Given the description of an element on the screen output the (x, y) to click on. 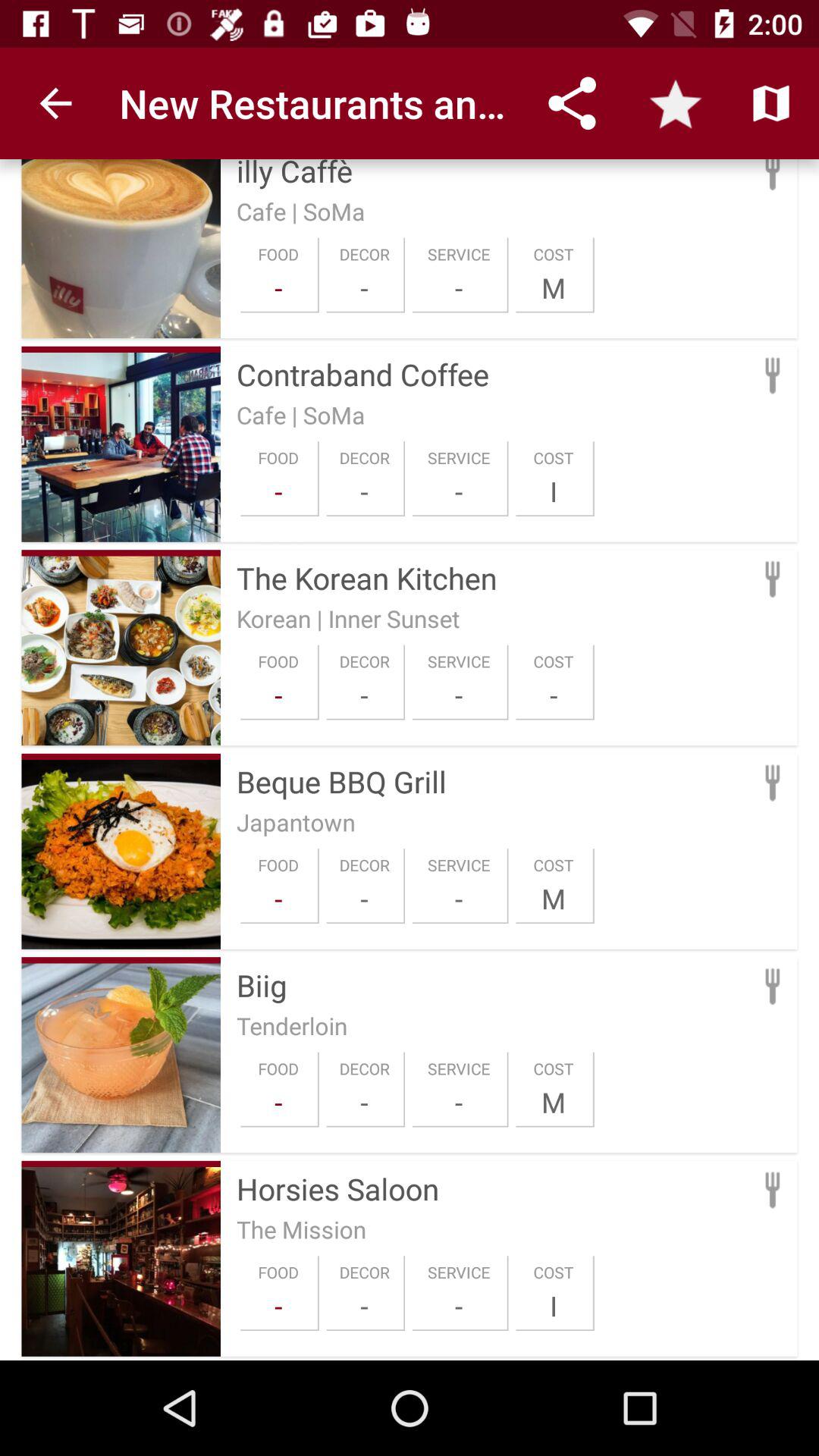
turn off the icon next to the food icon (364, 1305)
